Given the description of an element on the screen output the (x, y) to click on. 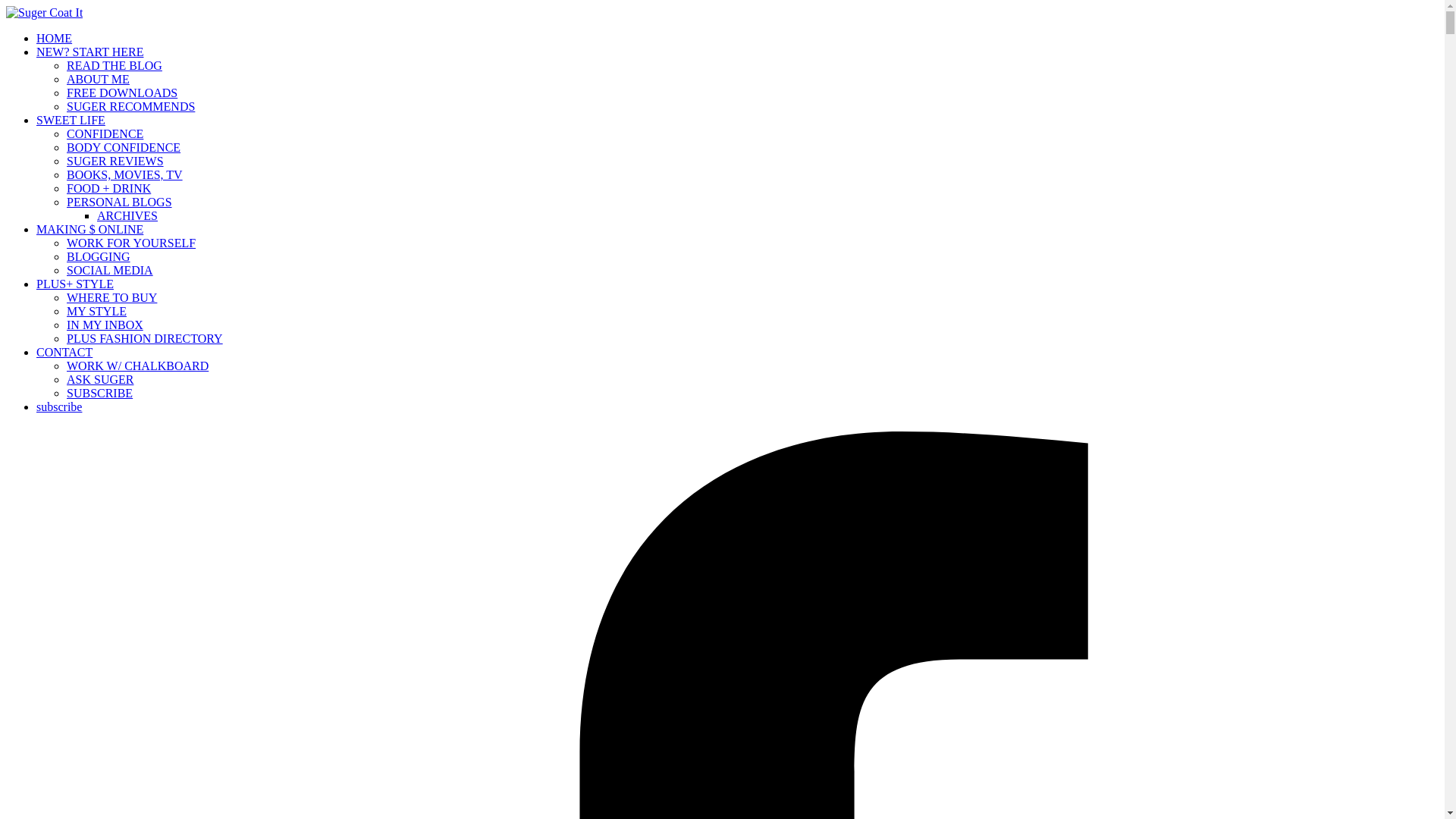
PLUS FASHION DIRECTORY (144, 338)
BOOKS, MOVIES, TV (124, 174)
FREE DOWNLOADS (121, 92)
MY STYLE (96, 310)
WHERE TO BUY (111, 297)
SUGER REVIEWS (114, 160)
PERSONAL BLOGS (118, 201)
IN MY INBOX (104, 324)
SWEET LIFE (70, 119)
CONTACT (64, 351)
